Given the description of an element on the screen output the (x, y) to click on. 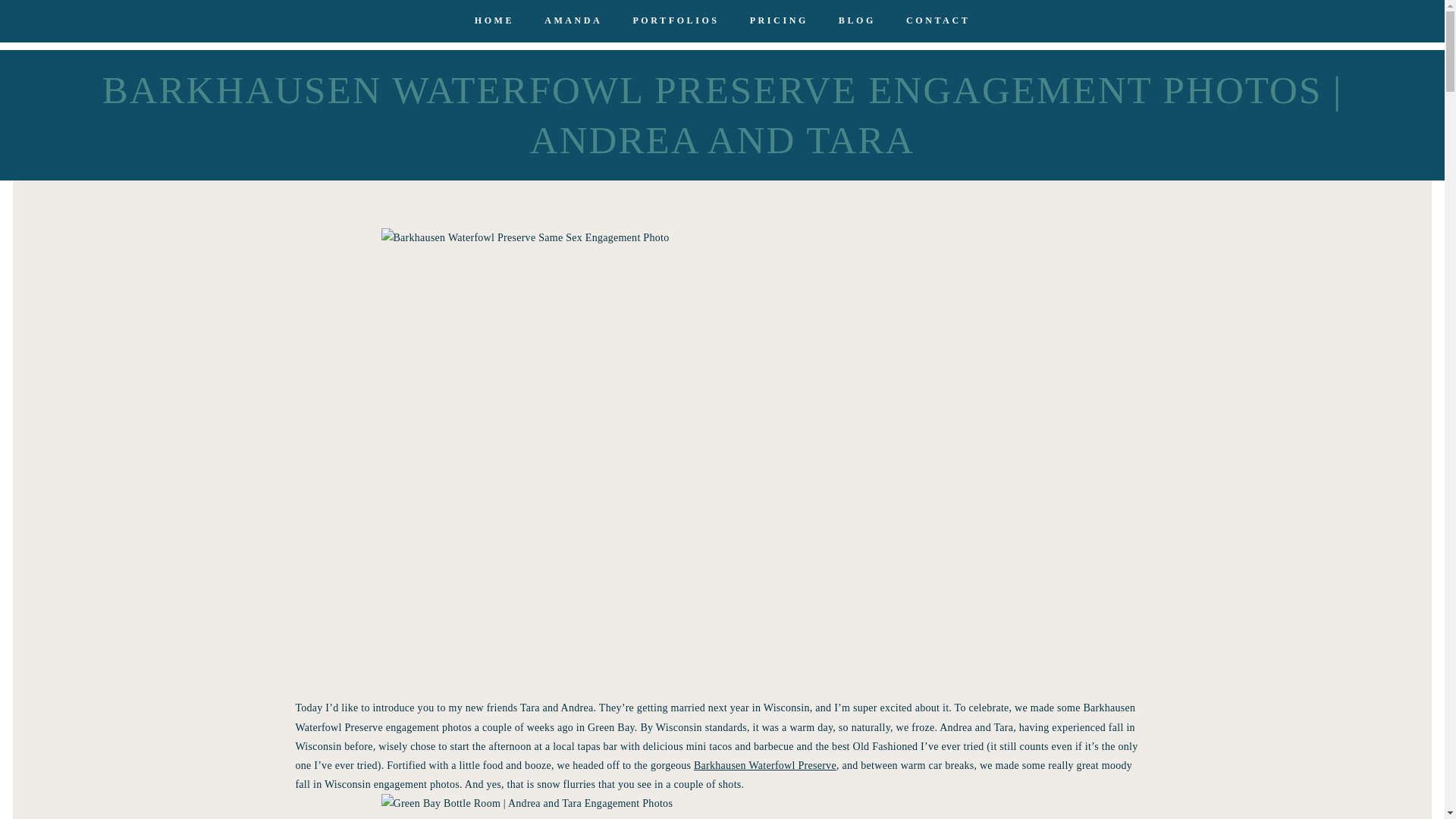
BLOG (857, 20)
PRICING (778, 20)
HOME (493, 20)
CONTACT (937, 20)
AMANDA (573, 20)
PORTFOLIOS (675, 20)
Barkhausen Waterfowl Preserve (764, 765)
